Given the description of an element on the screen output the (x, y) to click on. 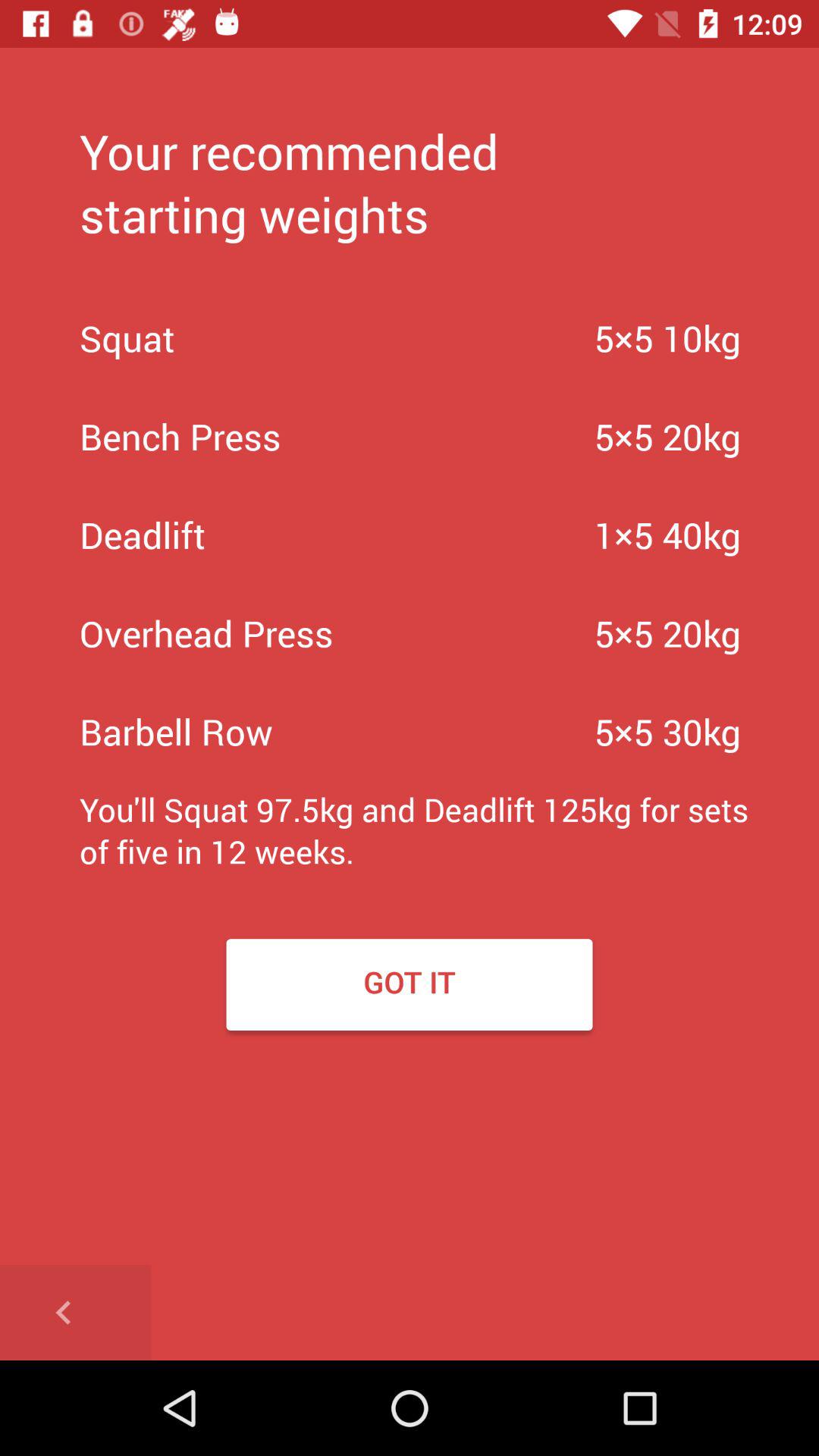
turn on item below the you ll squat item (409, 984)
